Given the description of an element on the screen output the (x, y) to click on. 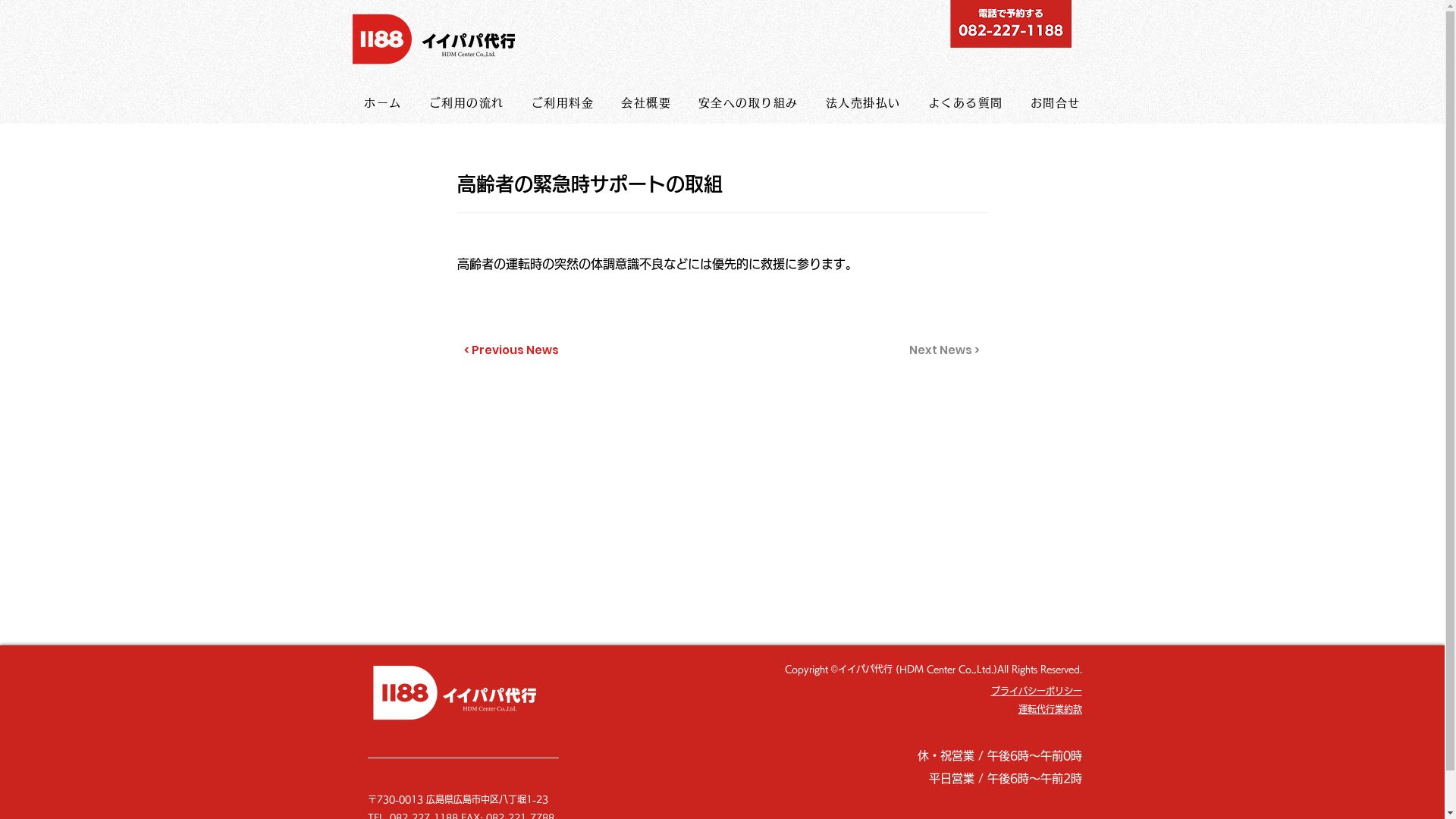
< Previous News Element type: text (514, 350)
Embedded Content Element type: hover (721, 429)
Next News > Element type: text (941, 350)
